Given the description of an element on the screen output the (x, y) to click on. 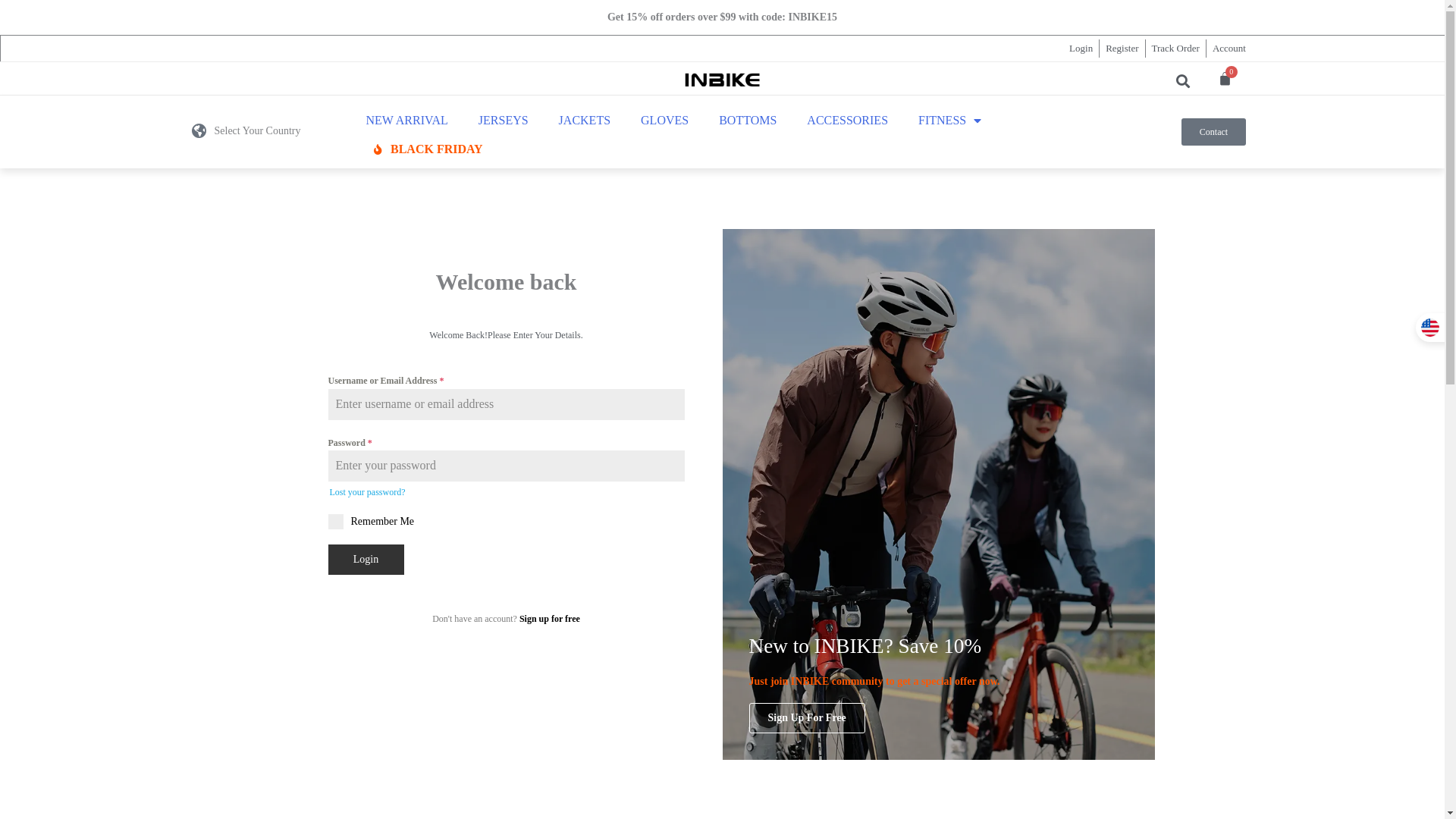
Register Element type: text (1121, 48)
JACKETS Element type: text (584, 120)
FITNESS Element type: text (949, 120)
0 Element type: text (1224, 78)
Login Element type: text (1080, 48)
Sign Up For Free Element type: text (807, 717)
BOTTOMS Element type: text (747, 120)
ACCESSORIES Element type: text (847, 120)
Login Element type: text (365, 559)
Lost your password? Element type: text (366, 491)
GLOVES Element type: text (664, 120)
Select Your Country Element type: text (256, 130)
JERSEYS Element type: text (503, 120)
BLACK FRIDAY Element type: text (427, 149)
Contact Element type: text (1213, 131)
Track Order Element type: text (1174, 48)
Account Element type: text (1228, 48)
NEW ARRIVAL Element type: text (406, 120)
